Given the description of an element on the screen output the (x, y) to click on. 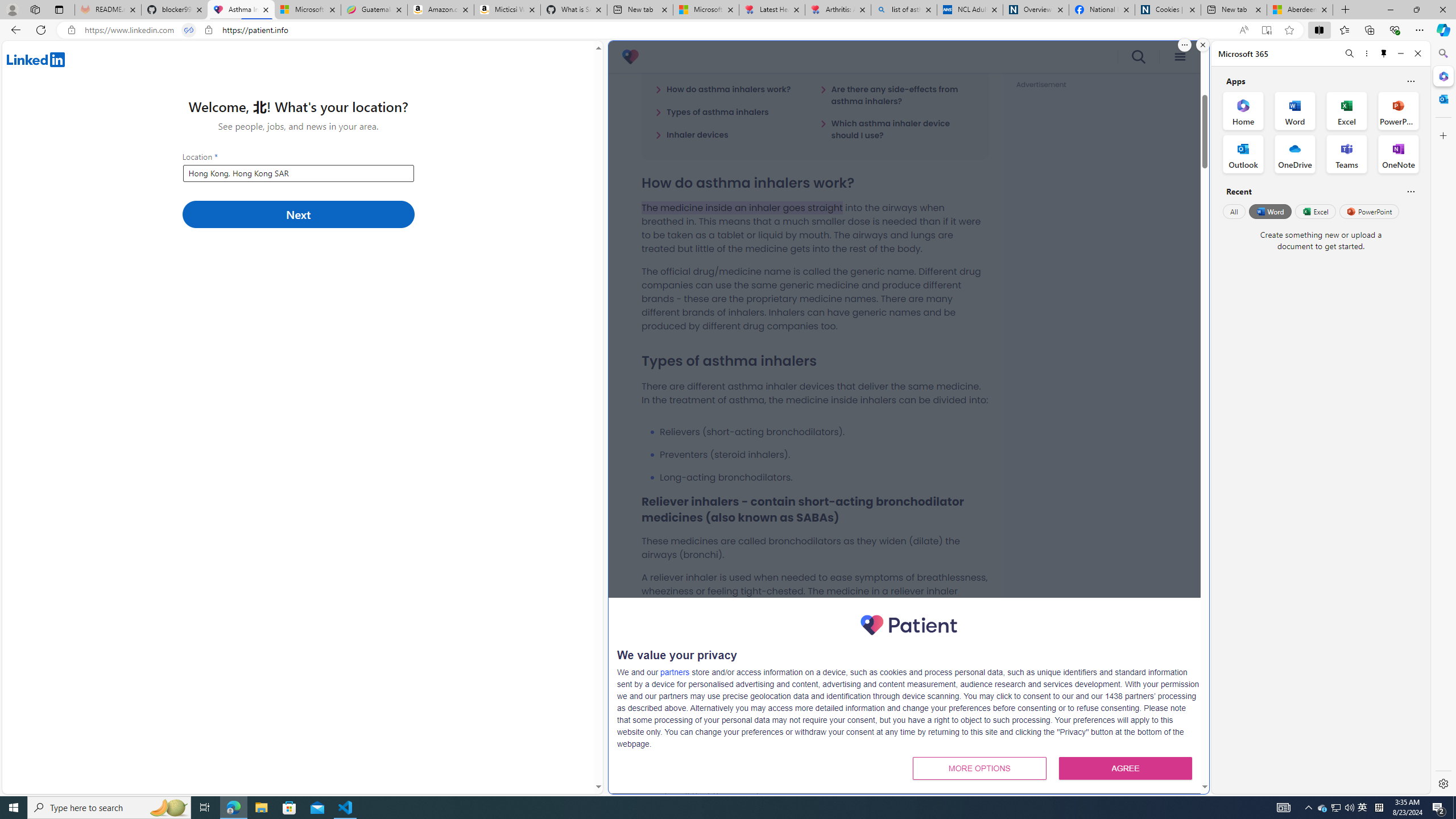
How do asthma inhalers work? (722, 88)
Types of asthma inhalers (711, 111)
Outlook Office App (1243, 154)
PowerPoint Office App (1398, 110)
PowerPoint (1369, 210)
All (1233, 210)
